Given the description of an element on the screen output the (x, y) to click on. 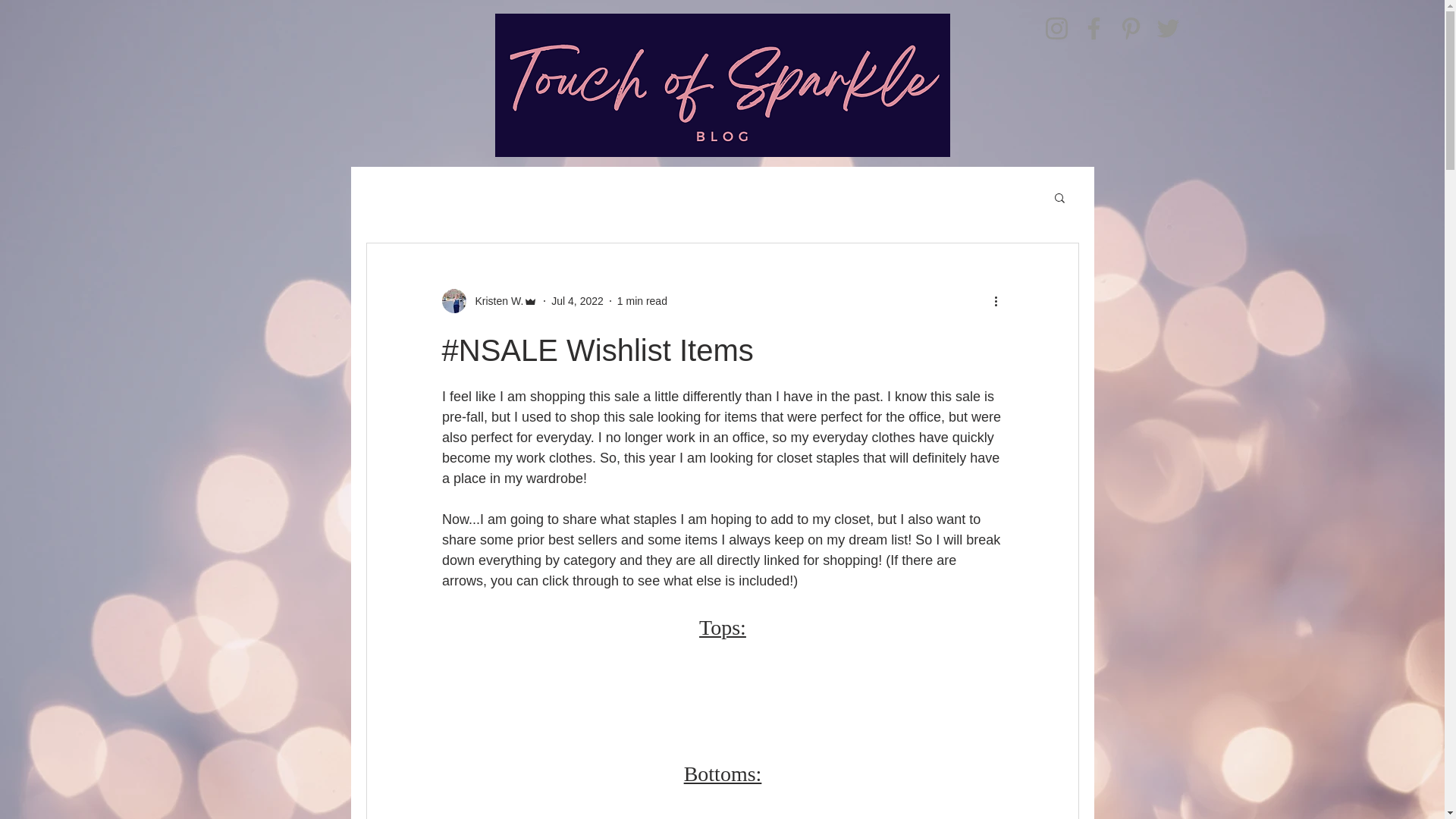
Kristen W. (493, 300)
1 min read (641, 300)
Jul 4, 2022 (577, 300)
